Given the description of an element on the screen output the (x, y) to click on. 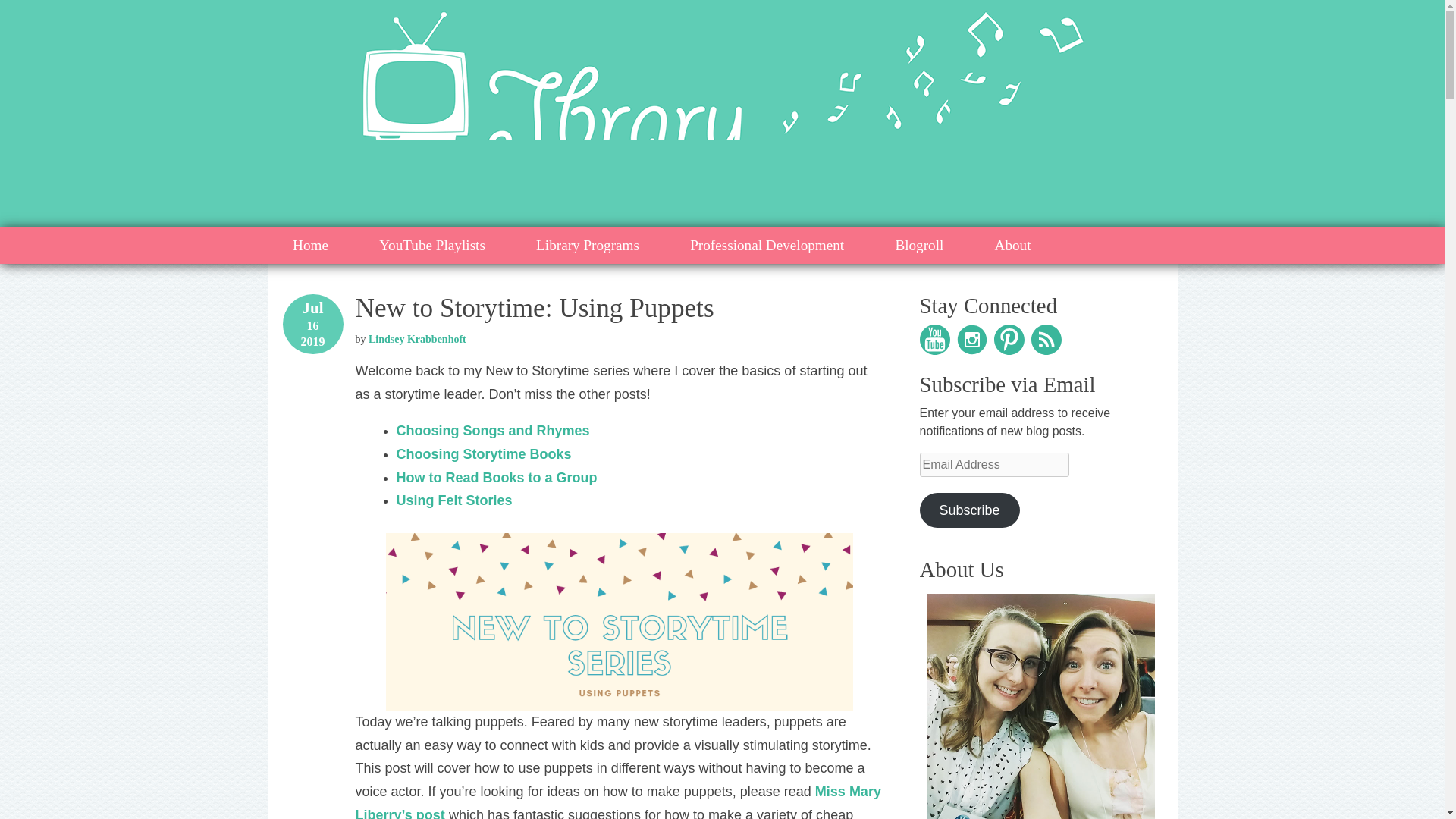
Home (309, 245)
Using Felt Stories (454, 500)
YouTube Playlists (432, 245)
Blogroll (919, 245)
Library Programs (588, 245)
How to Read Books to a Group (496, 477)
Choosing Storytime Books (483, 453)
Lindsey Krabbenhoft (416, 338)
About (1013, 245)
Professional Development (767, 245)
Choosing Songs and Rhymes (492, 430)
